Given the description of an element on the screen output the (x, y) to click on. 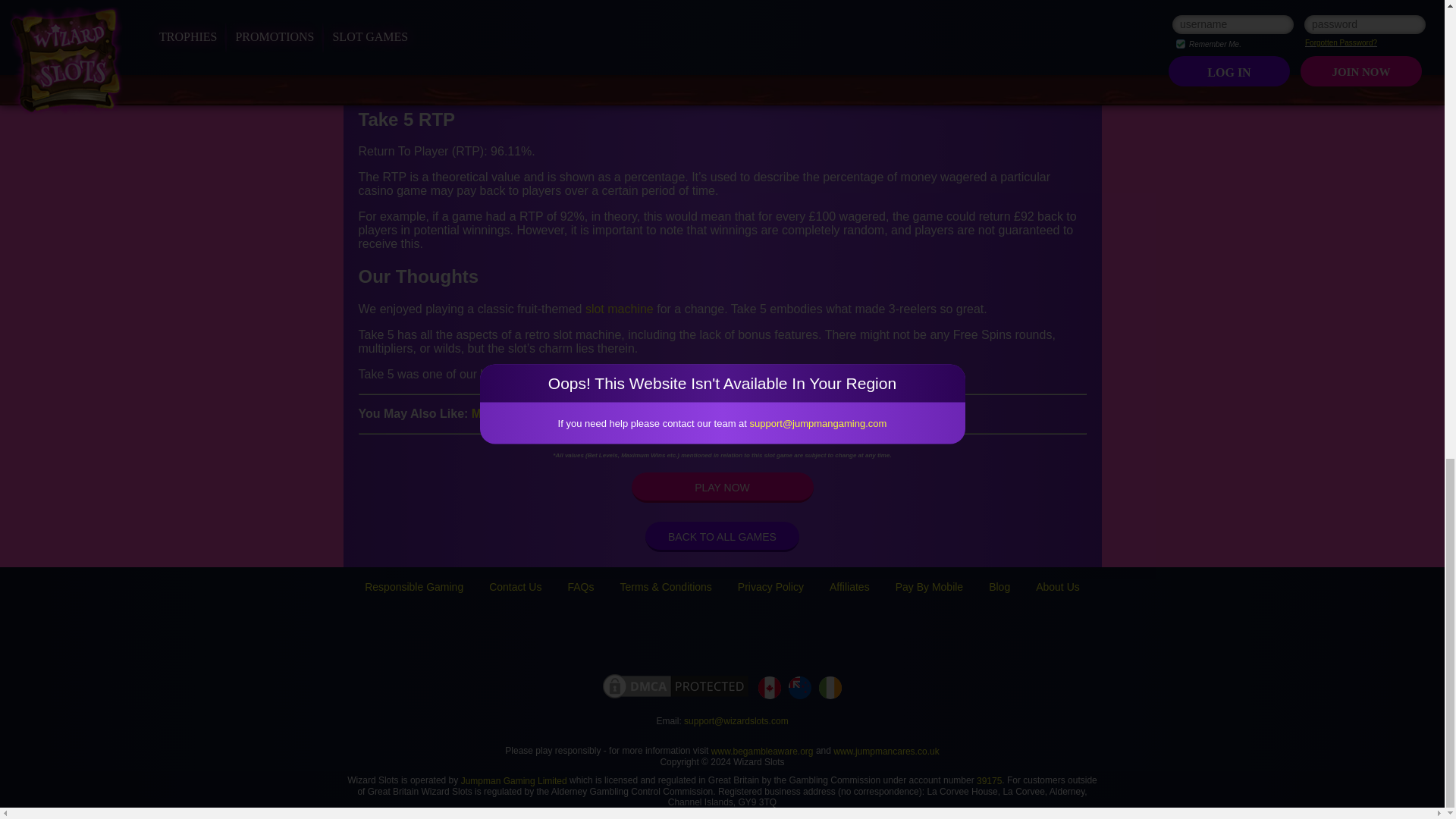
BACK TO ALL GAMES (722, 536)
BACK TO ALL GAMES (722, 536)
slot machine (619, 308)
Pay By Mobile (928, 586)
DMCA.com Protection Status (674, 687)
Mustang Riches (517, 413)
Contact Us (515, 586)
Affiliates (849, 586)
Win Win (718, 413)
Bingo 75 (600, 413)
About Us (1057, 586)
Responsible Gaming (414, 586)
Blog (999, 586)
Cash Up (660, 413)
FAQs (580, 586)
